Given the description of an element on the screen output the (x, y) to click on. 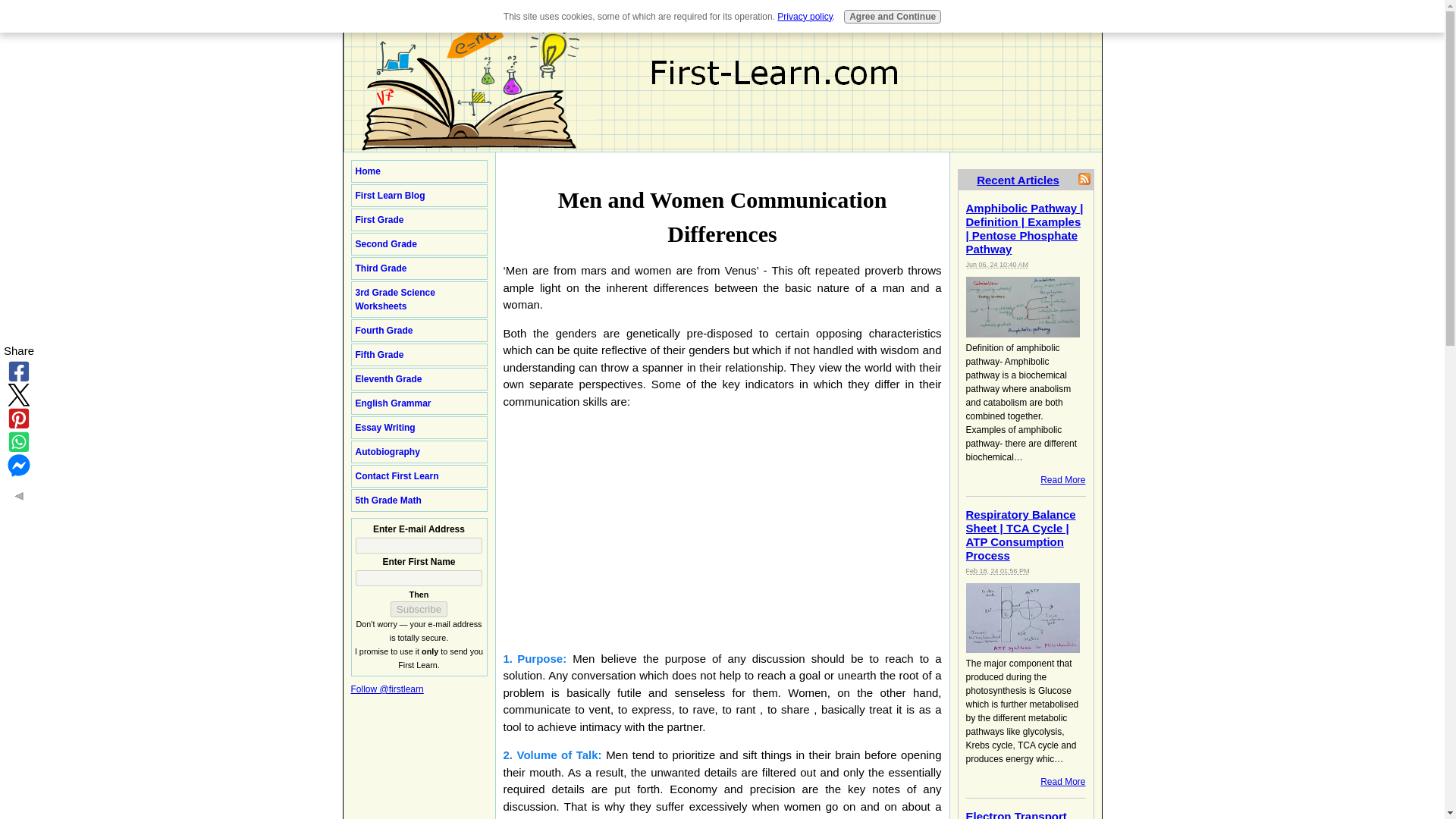
Recent Articles (1017, 178)
Third Grade (418, 268)
Autobiography (418, 451)
3rd Grade Science Worksheets (418, 299)
Advertisement (630, 527)
2024-06-06T10:40:21-0400 (997, 264)
Second Grade (418, 243)
Fourth Grade (418, 330)
Read More (1062, 781)
Contact First Learn (418, 476)
